Given the description of an element on the screen output the (x, y) to click on. 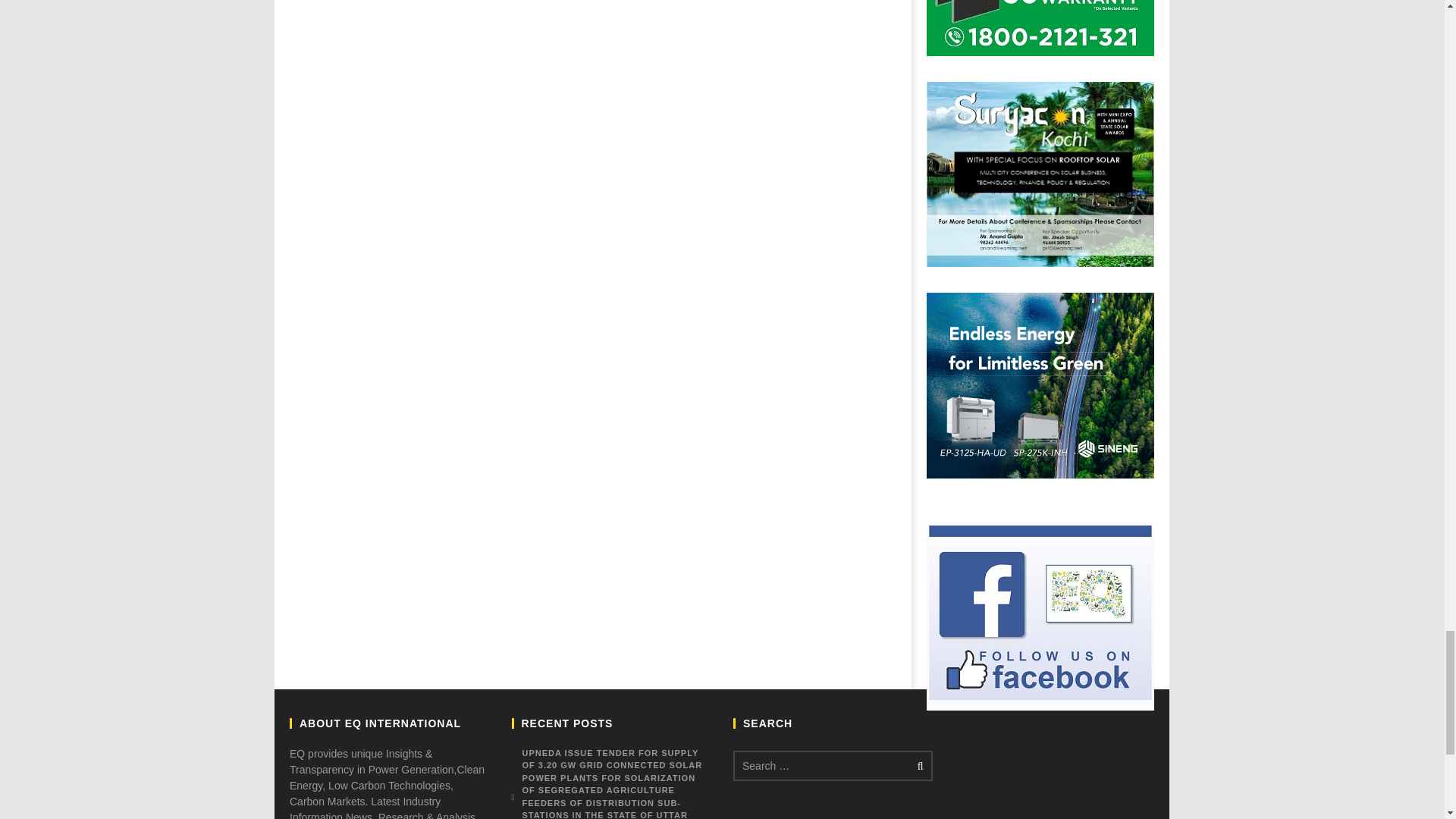
Search (917, 765)
Search (917, 765)
